Given the description of an element on the screen output the (x, y) to click on. 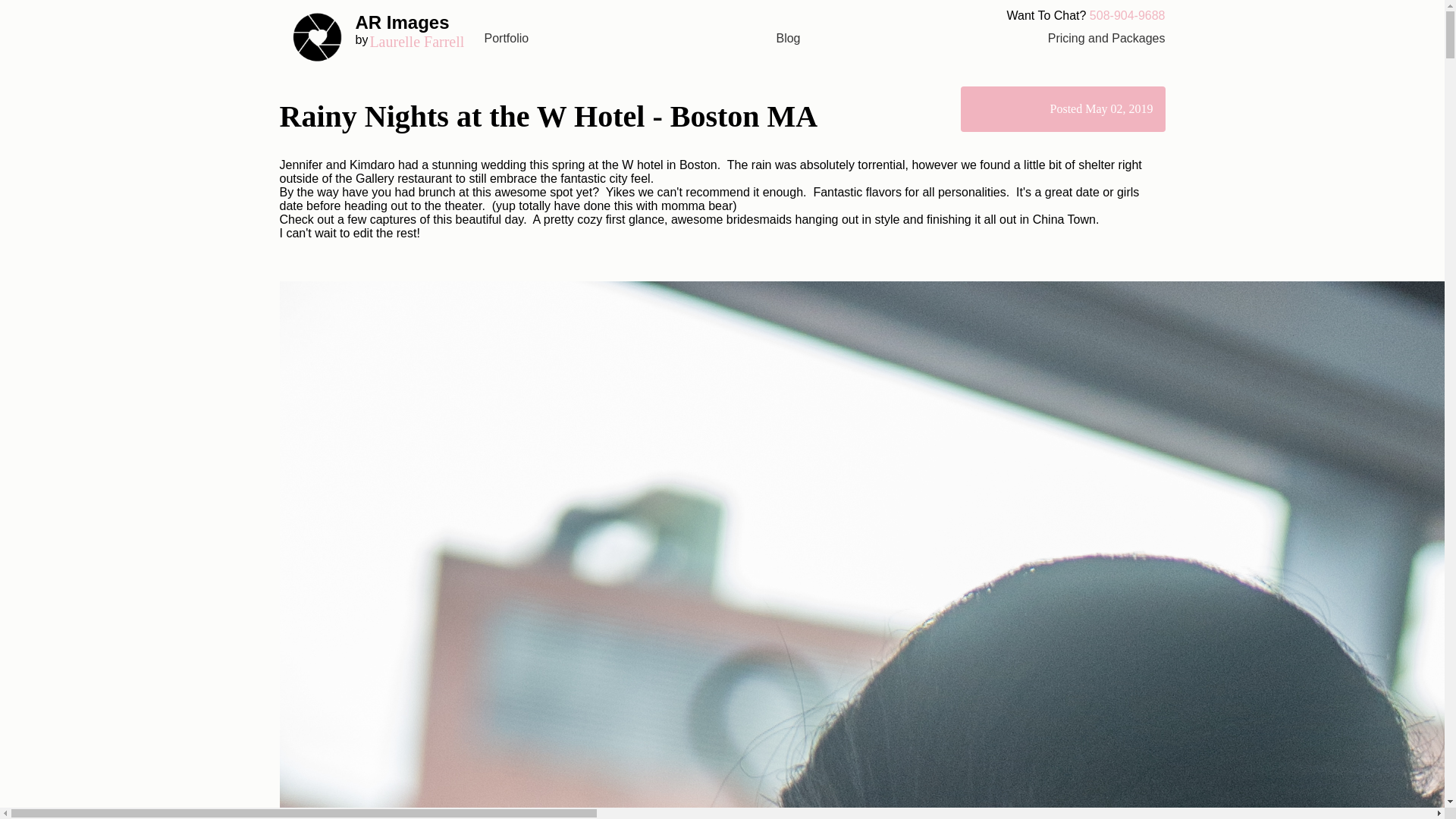
508-904-9688 (1127, 15)
Pricing and Packages (1107, 38)
Blog (787, 38)
Portfolio (381, 37)
